Given the description of an element on the screen output the (x, y) to click on. 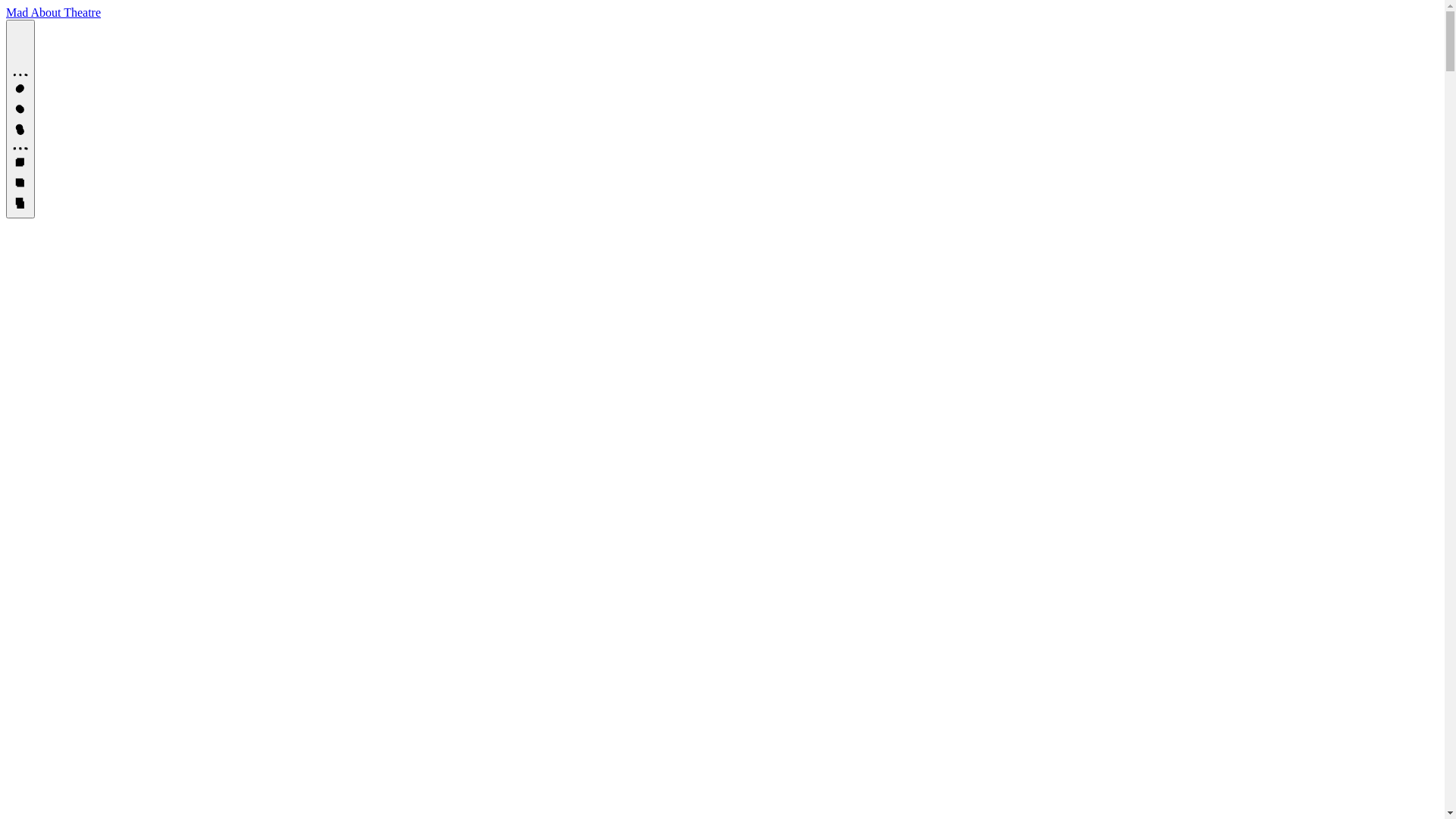
Mad About Theatre Element type: text (53, 12)
